Given the description of an element on the screen output the (x, y) to click on. 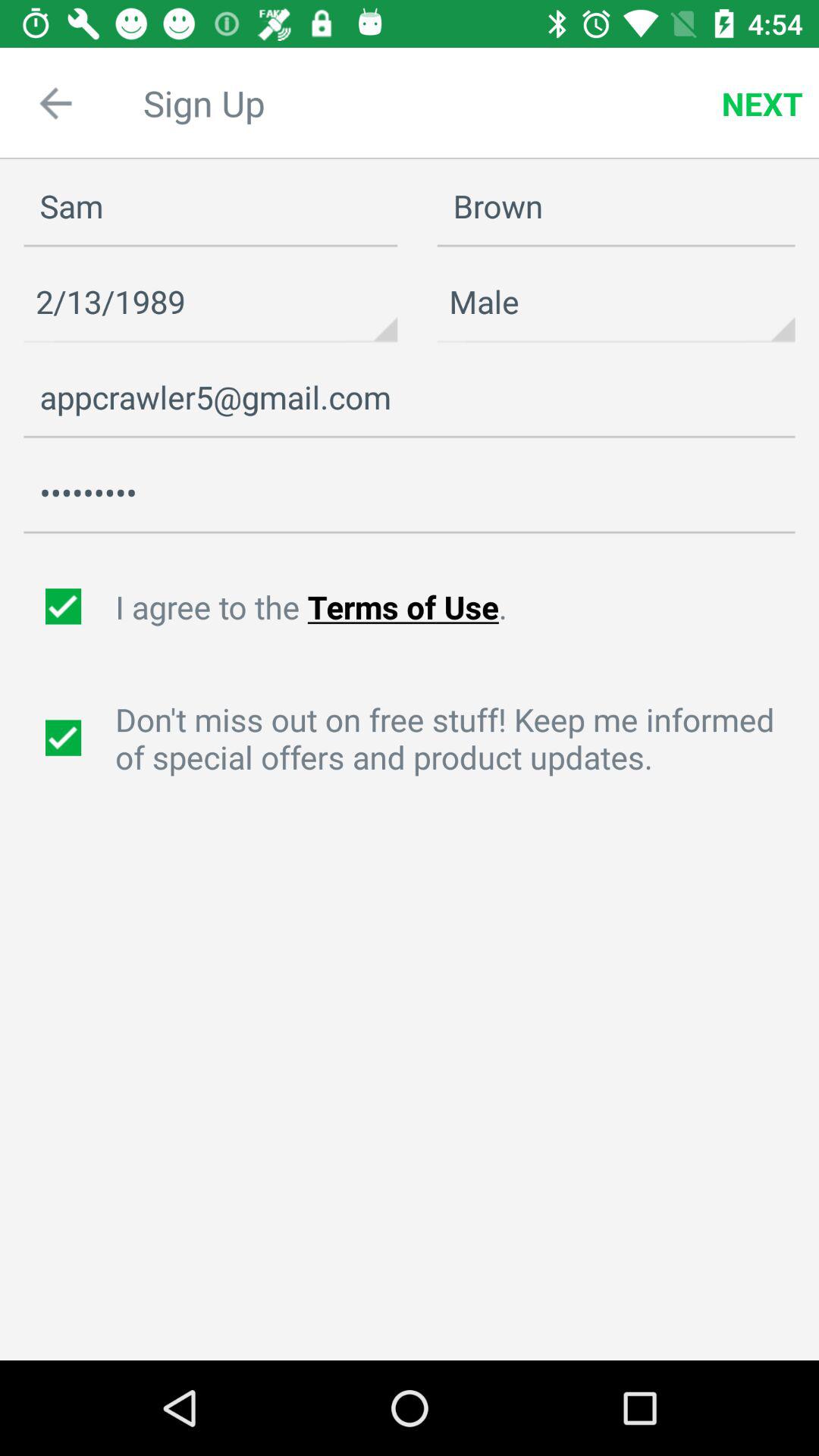
scroll to 2/13/1989 item (210, 302)
